Given the description of an element on the screen output the (x, y) to click on. 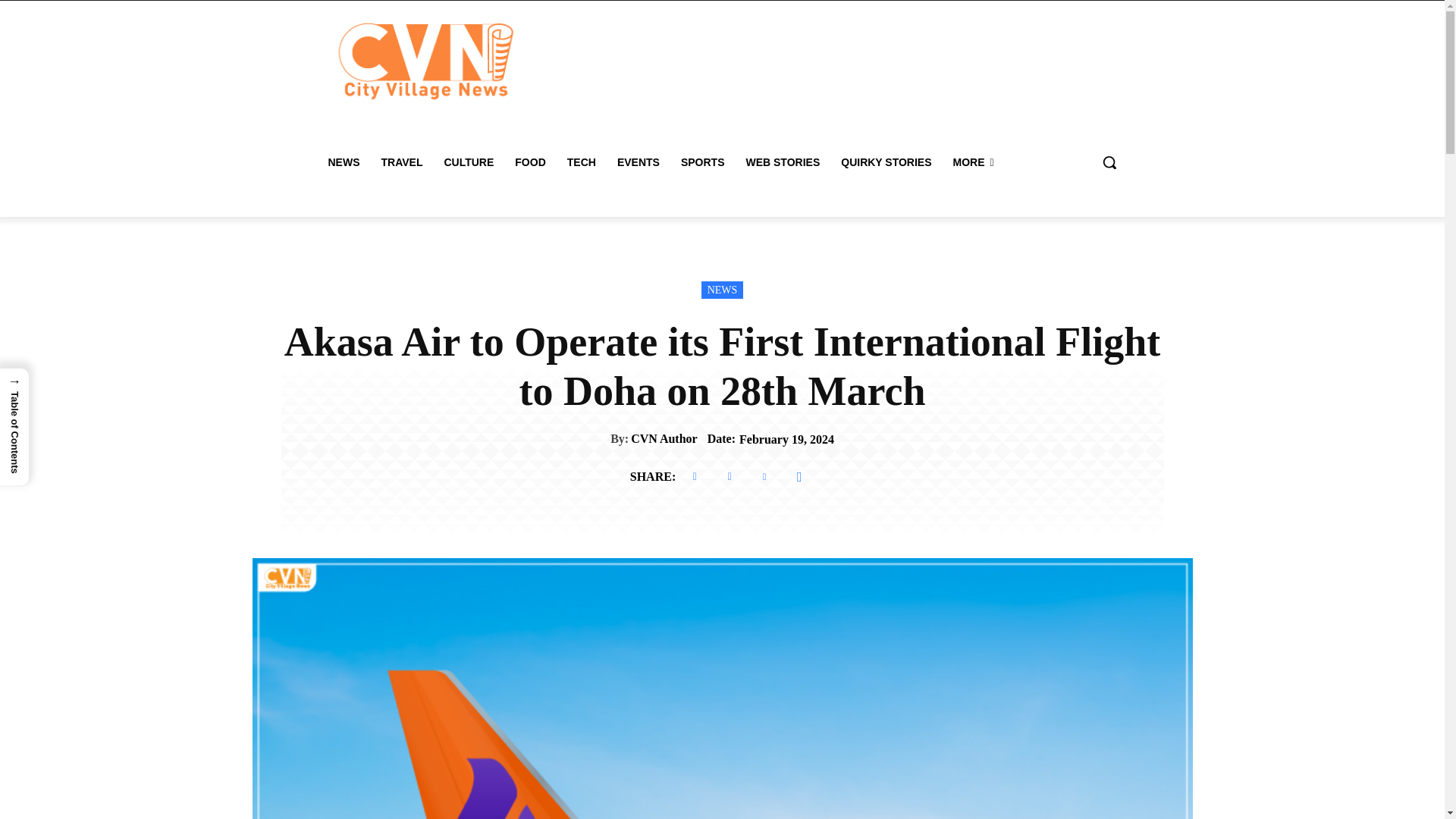
City Village News (425, 61)
CULTURE (467, 162)
TRAVEL (400, 162)
WhatsApp (798, 476)
Twitter (729, 476)
NEWS (343, 162)
Facebook (694, 476)
WEB STORIES (782, 162)
Pinterest (763, 476)
CVN Author (663, 438)
FOOD (529, 162)
QUIRKY STORIES (885, 162)
SPORTS (702, 162)
MORE (973, 162)
NEWS (722, 289)
